Given the description of an element on the screen output the (x, y) to click on. 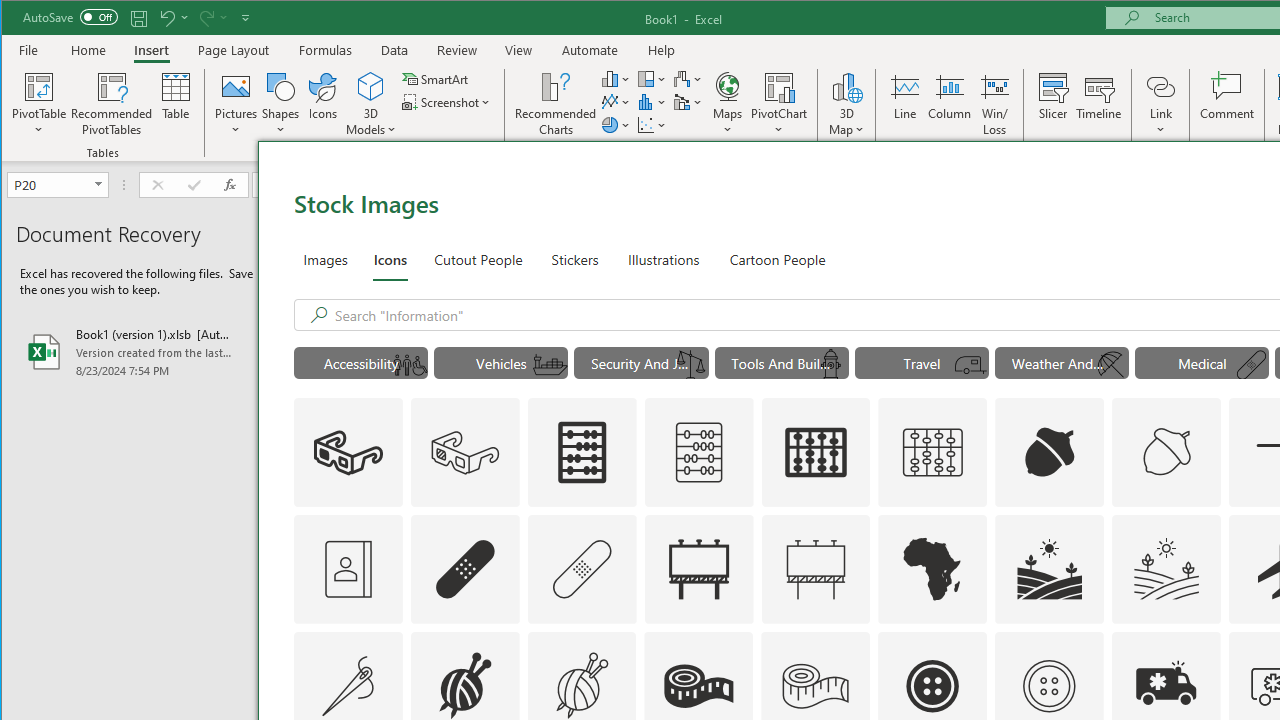
AutomationID: Icons_BeachUmbrella_M (1110, 365)
PivotTable (39, 86)
Shapes (280, 104)
Cartoon People (778, 258)
Icons (390, 258)
Win/Loss (995, 104)
